Given the description of an element on the screen output the (x, y) to click on. 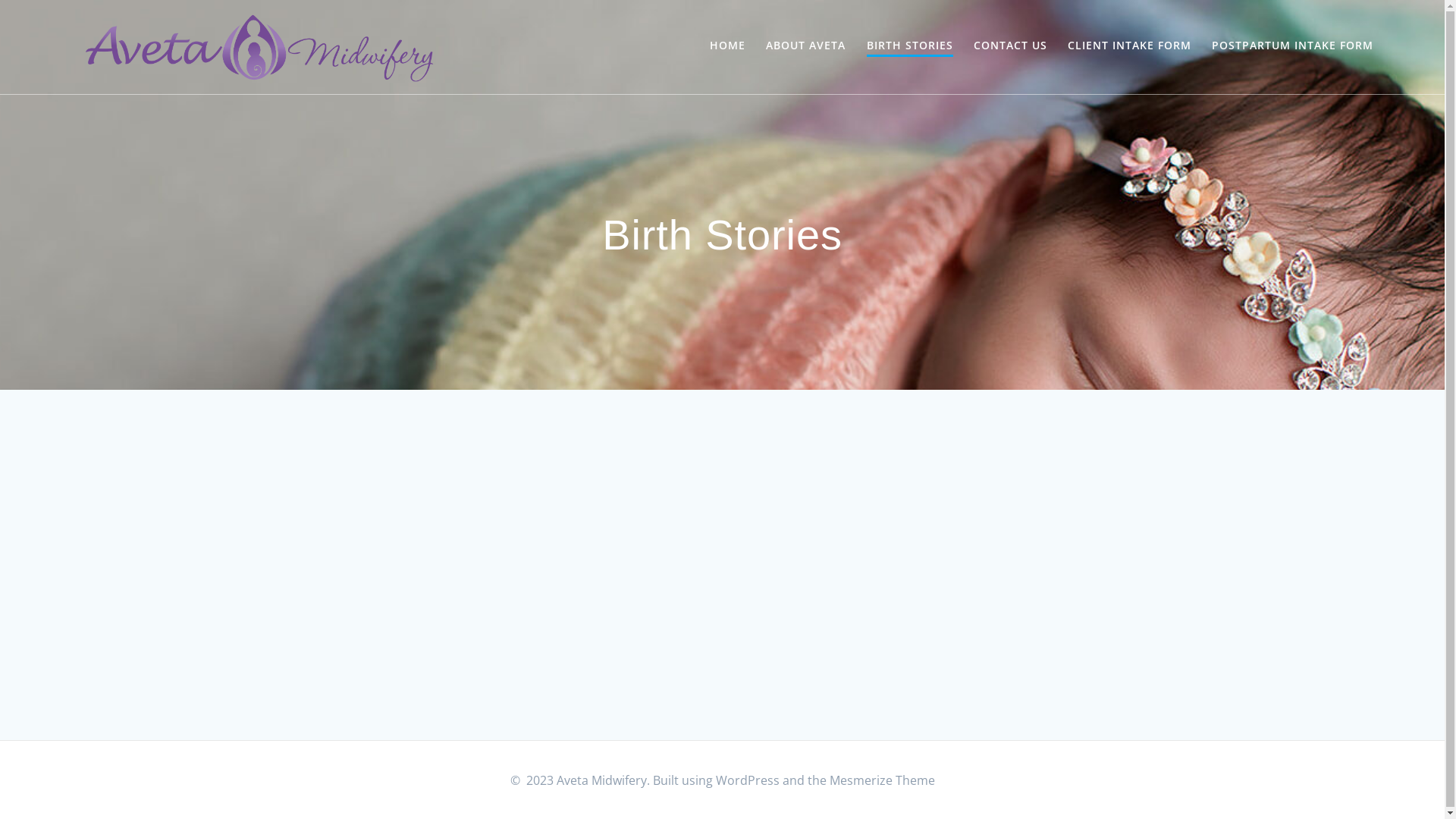
POSTPARTUM INTAKE FORM Element type: text (1292, 45)
CLIENT INTAKE FORM Element type: text (1129, 45)
HOME Element type: text (727, 45)
Mesmerize Theme Element type: text (882, 779)
CONTACT US Element type: text (1010, 45)
ABOUT AVETA Element type: text (805, 45)
BIRTH STORIES Element type: text (909, 46)
